Given the description of an element on the screen output the (x, y) to click on. 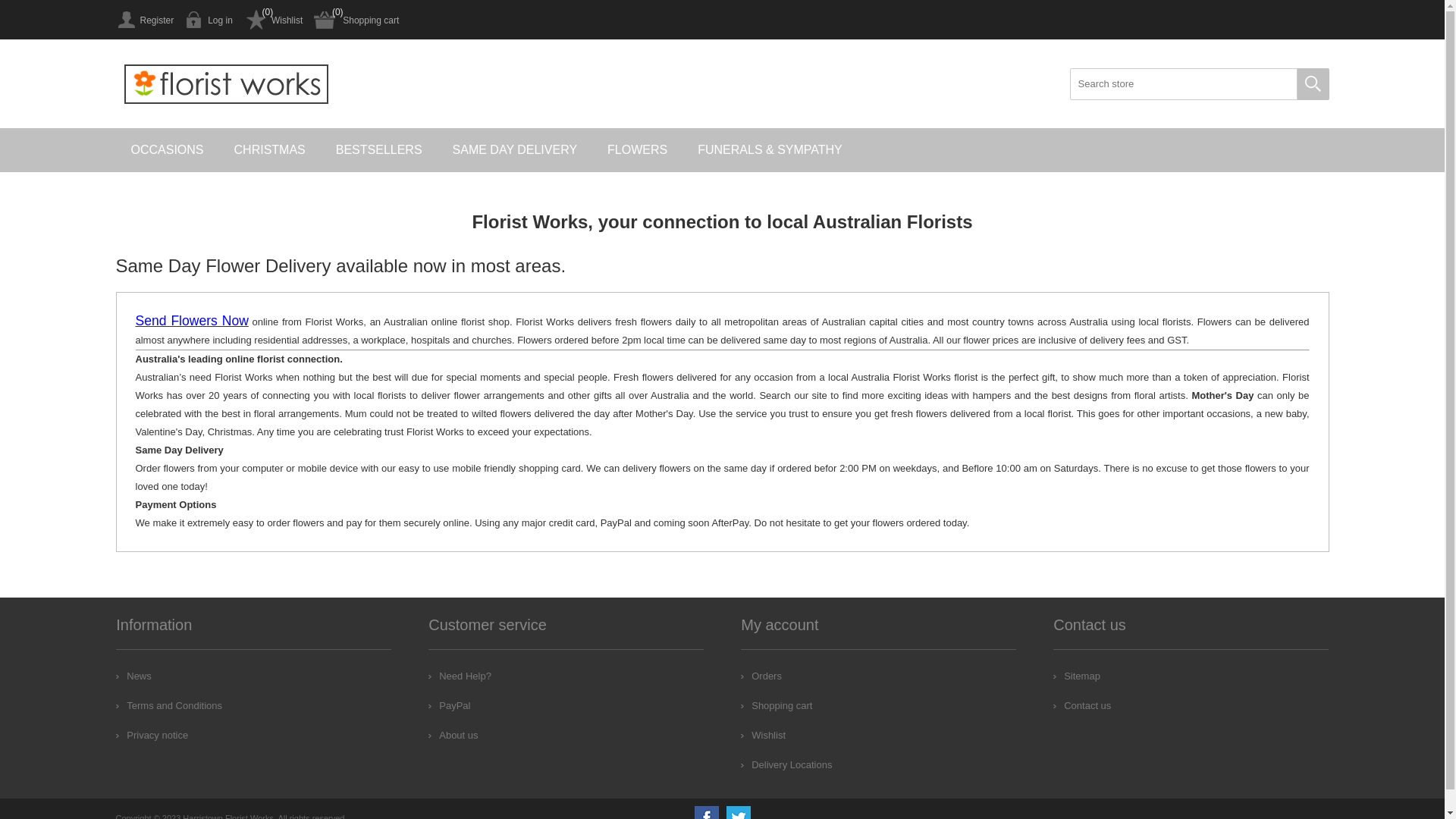
Shopping cart Element type: text (355, 19)
Search Element type: text (1312, 84)
Wishlist Element type: text (762, 734)
OCCASIONS Element type: text (166, 150)
Orders Element type: text (760, 675)
About us Element type: text (452, 734)
Terms and Conditions Element type: text (169, 705)
PayPal Element type: text (449, 705)
Send Flowers Now Element type: text (190, 321)
Register Element type: text (144, 19)
Wishlist Element type: text (273, 19)
CHRISTMAS Element type: text (269, 150)
FLOWERS Element type: text (637, 150)
Privacy notice Element type: text (152, 734)
Log in Element type: text (208, 19)
Shopping cart Element type: text (776, 705)
News Element type: text (133, 675)
BESTSELLERS Element type: text (378, 150)
Need Help? Element type: text (459, 675)
Delivery Locations Element type: text (785, 764)
Contact us Element type: text (1081, 705)
SAME DAY DELIVERY Element type: text (515, 150)
Sitemap Element type: text (1076, 675)
FUNERALS & SYMPATHY Element type: text (769, 150)
